Given the description of an element on the screen output the (x, y) to click on. 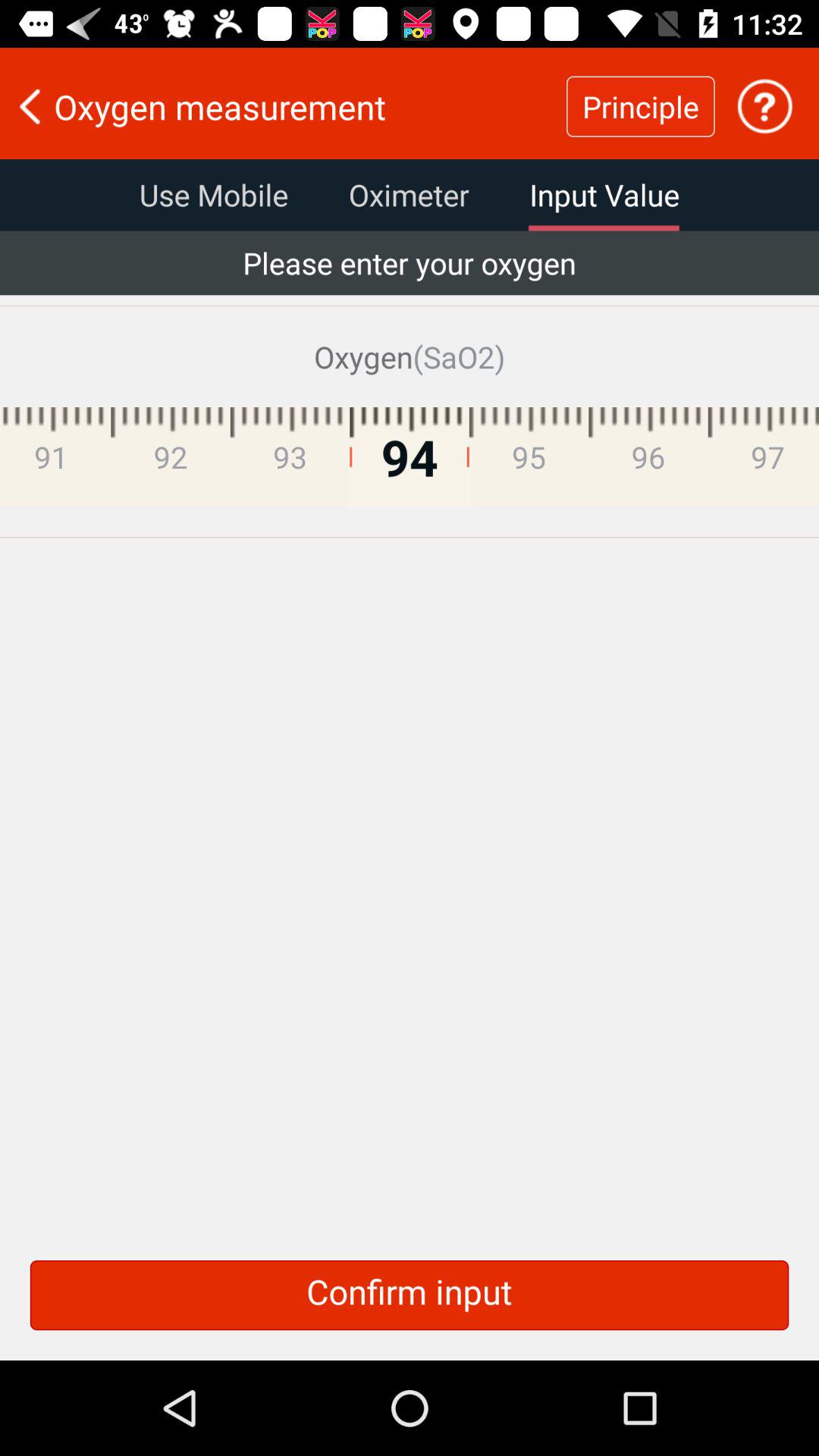
more information (764, 106)
